Given the description of an element on the screen output the (x, y) to click on. 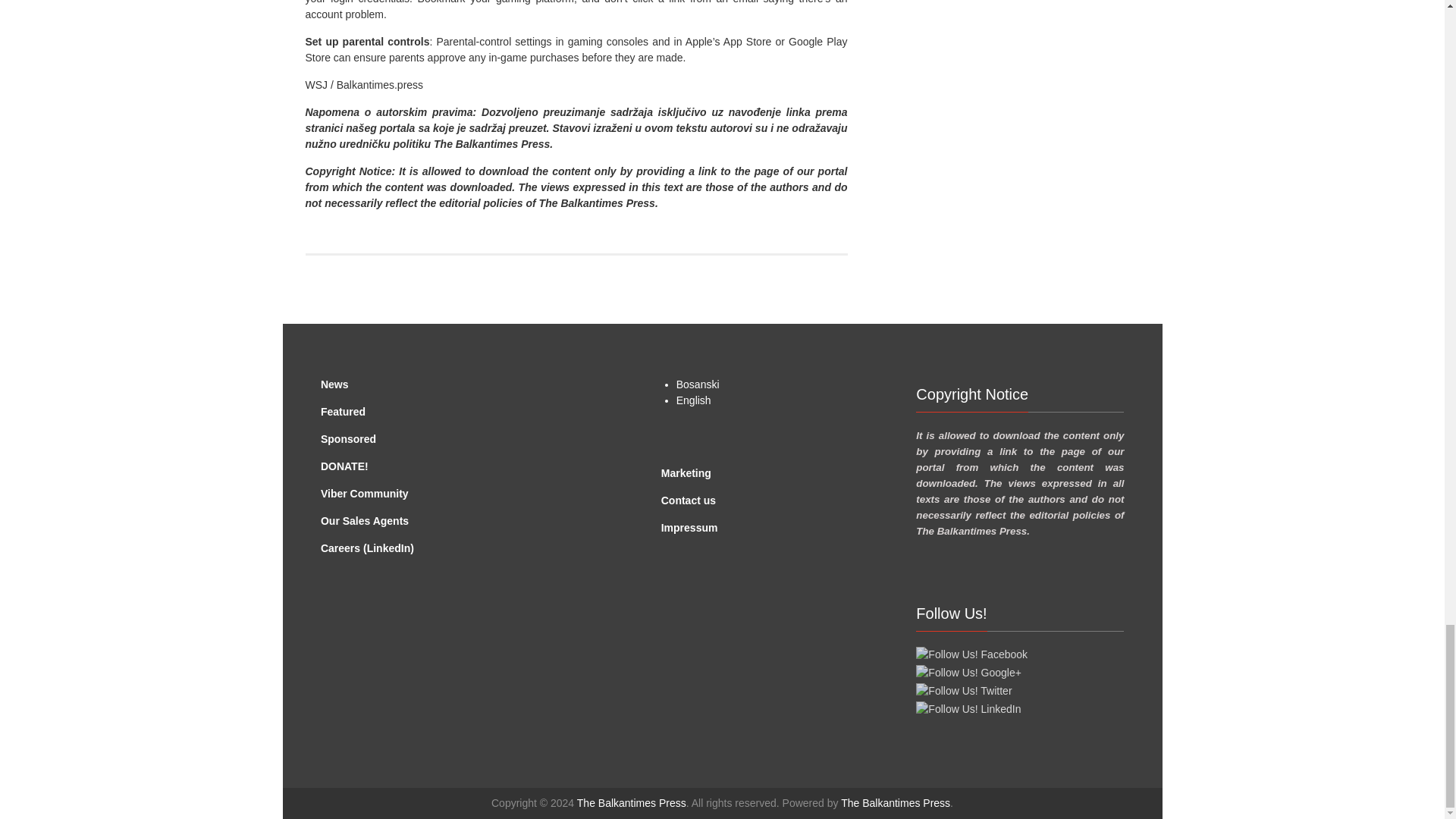
Twitter (963, 691)
YouTube (968, 672)
Facebook (971, 654)
